Given the description of an element on the screen output the (x, y) to click on. 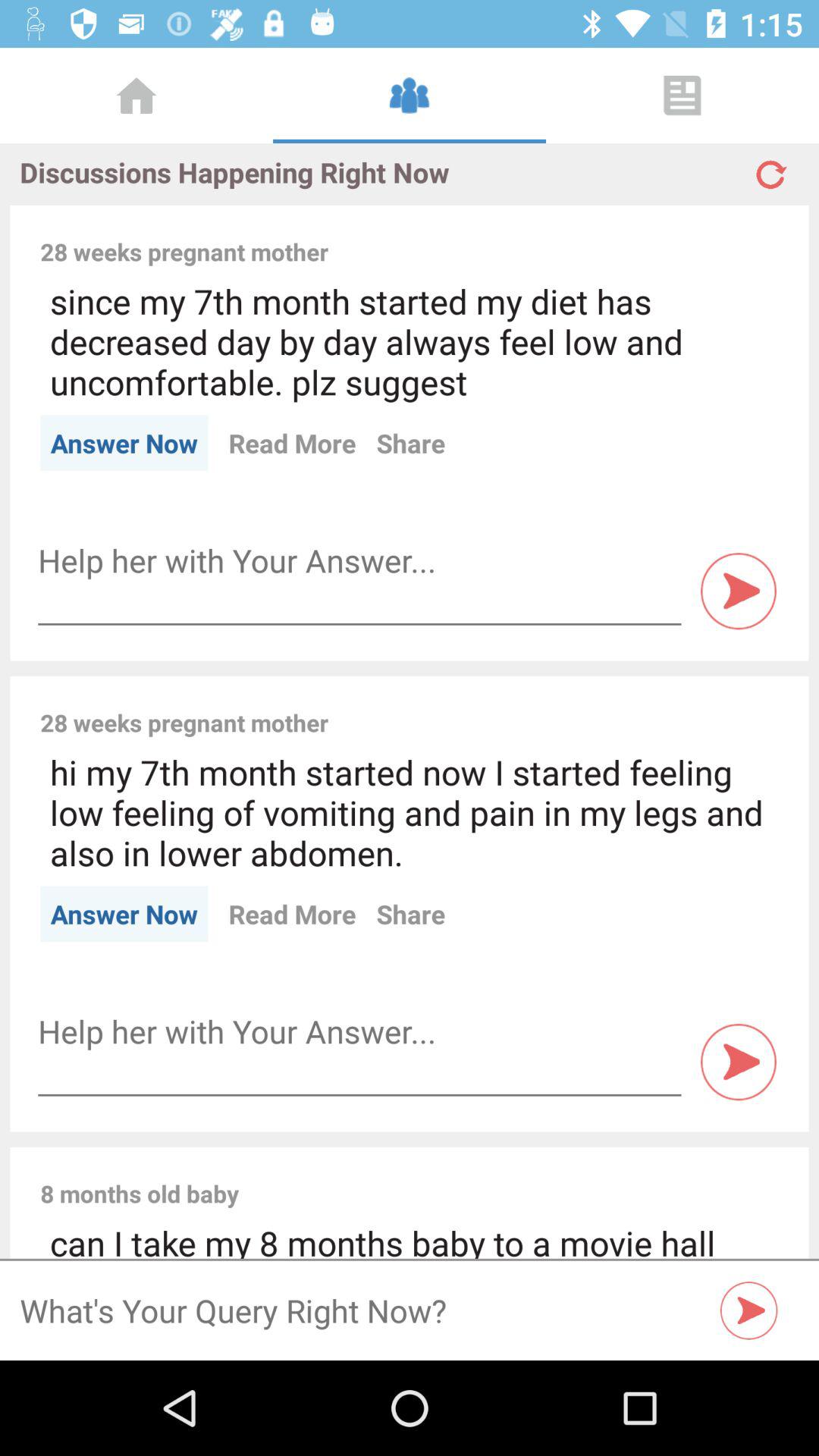
press icon above hi my 7th icon (563, 706)
